Given the description of an element on the screen output the (x, y) to click on. 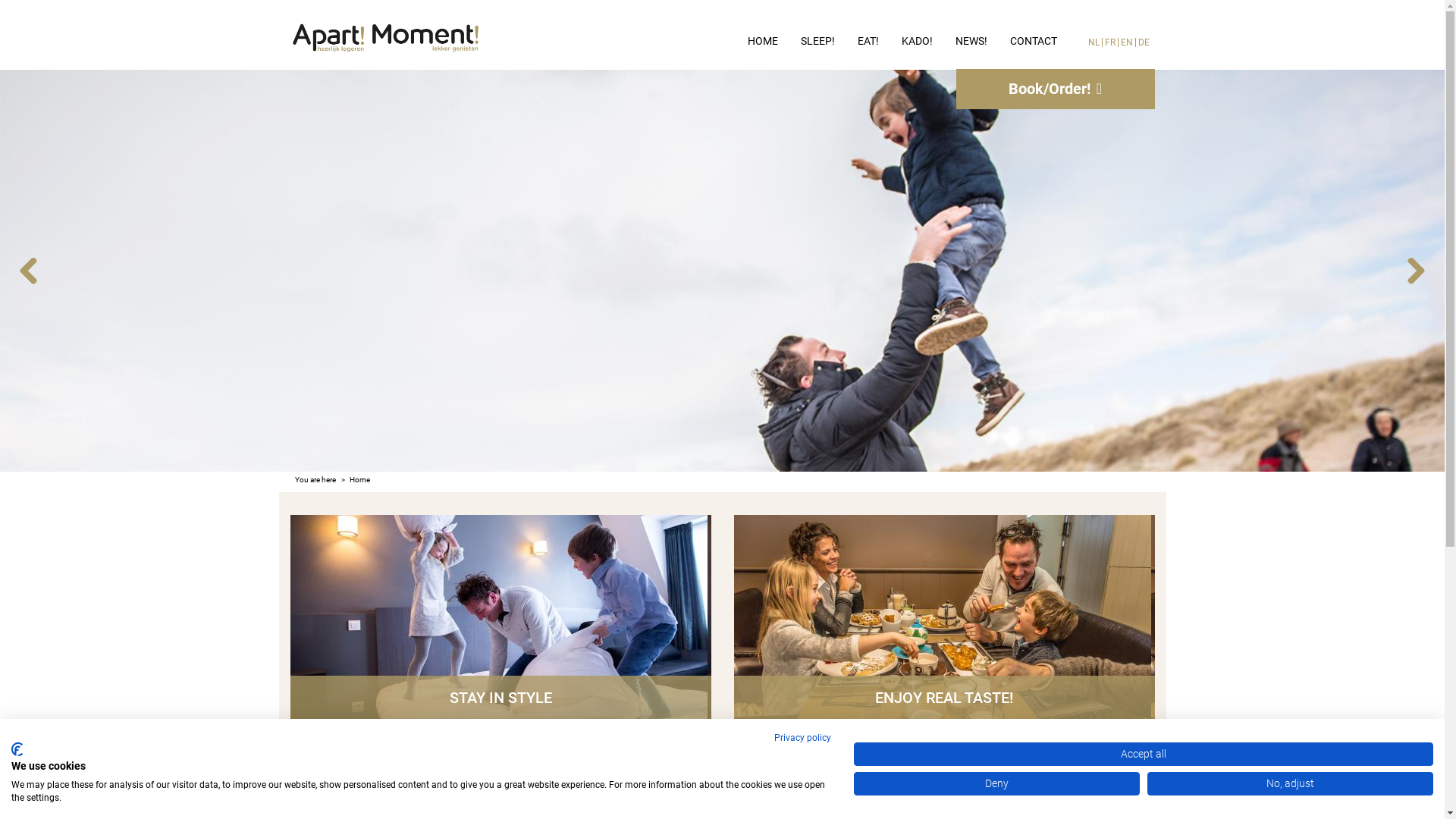
Previous Element type: text (28, 270)
EAT! Element type: text (868, 41)
NEWS! Element type: text (971, 41)
Privacy policy Element type: text (802, 737)
NL Element type: text (1093, 42)
Next Element type: text (1416, 270)
DE Element type: text (1143, 42)
FR Element type: text (1109, 42)
ENJOY REAL TASTE! Element type: text (944, 616)
No, adjust Element type: text (1290, 783)
HOME Element type: text (762, 41)
STAY IN STYLE Element type: text (499, 616)
CONTACT Element type: text (1033, 41)
EN Element type: text (1126, 42)
SLEEP! Element type: text (817, 41)
KADO! Element type: text (917, 41)
Home Element type: text (358, 479)
Accept all Element type: text (1143, 753)
Deny Element type: text (996, 783)
